Given the description of an element on the screen output the (x, y) to click on. 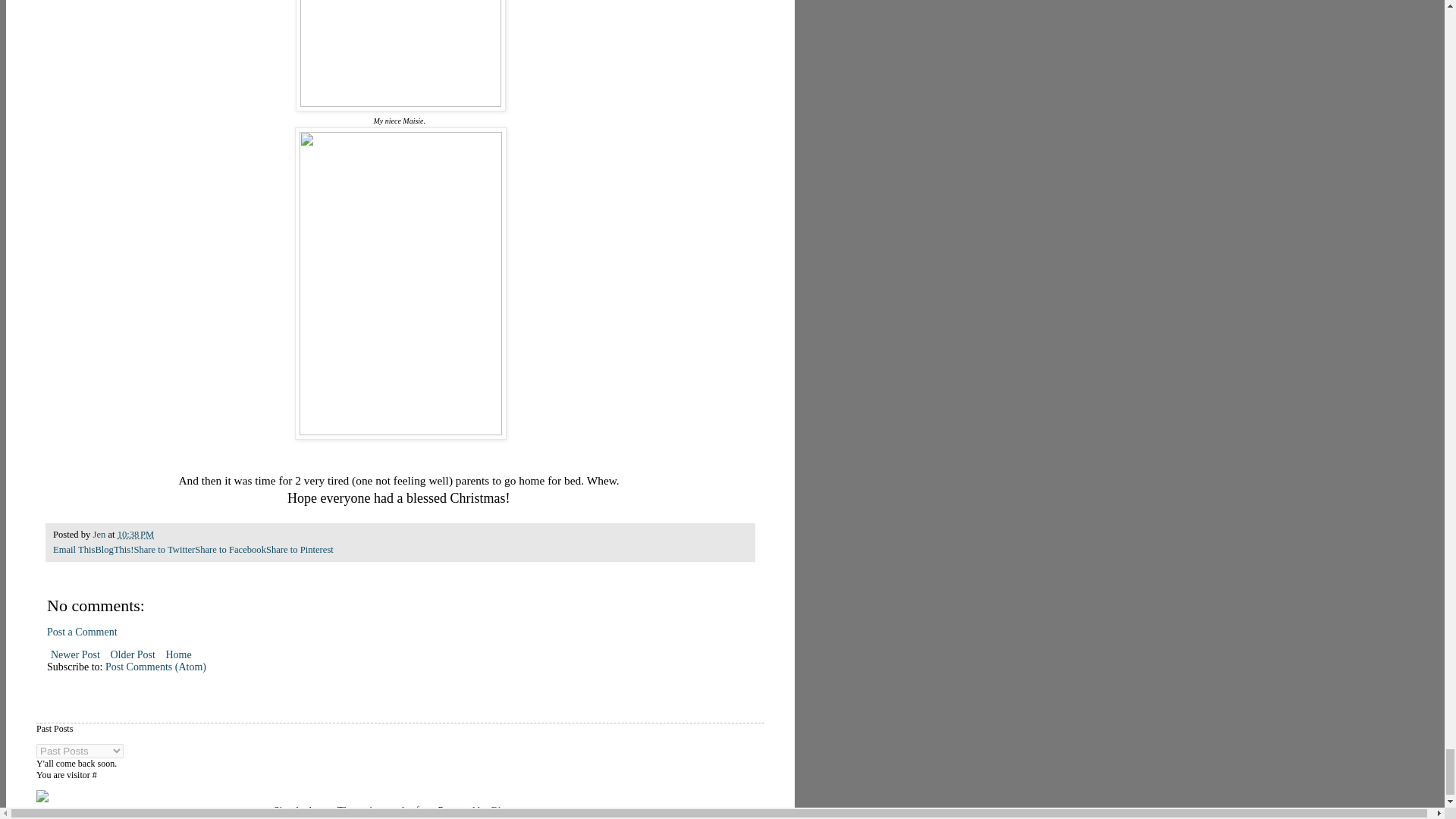
Share to Facebook (230, 549)
BlogThis! (113, 549)
Newer Post (74, 654)
Share to Pinterest (299, 549)
author profile (100, 534)
Share to Twitter (164, 549)
permanent link (135, 534)
Older Post (132, 654)
Email This (73, 549)
